Given the description of an element on the screen output the (x, y) to click on. 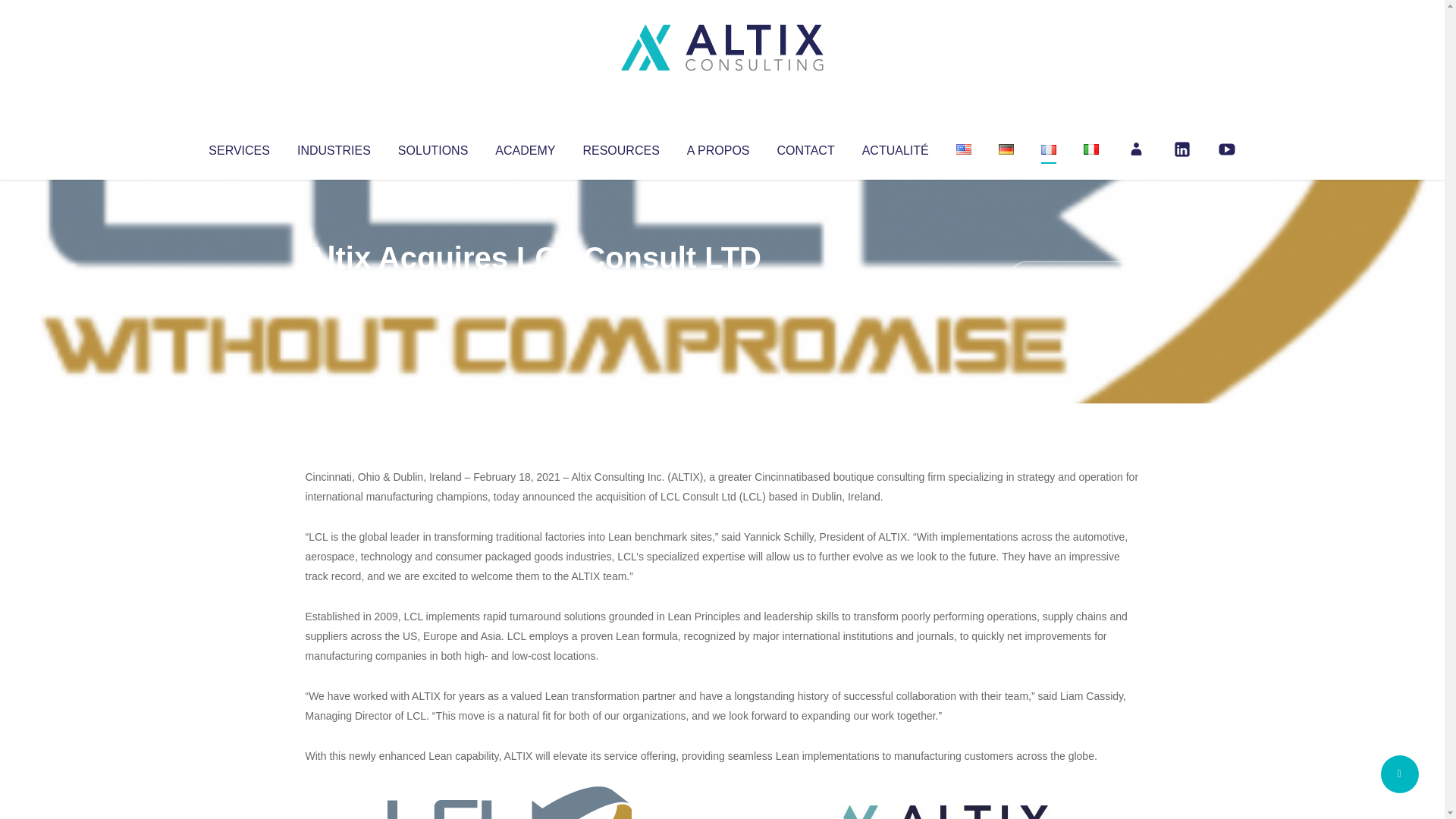
ACADEMY (524, 146)
SERVICES (238, 146)
A PROPOS (718, 146)
Articles par Altix (333, 287)
No Comments (1073, 278)
INDUSTRIES (334, 146)
Uncategorized (530, 287)
SOLUTIONS (432, 146)
Altix (333, 287)
RESOURCES (620, 146)
